Given the description of an element on the screen output the (x, y) to click on. 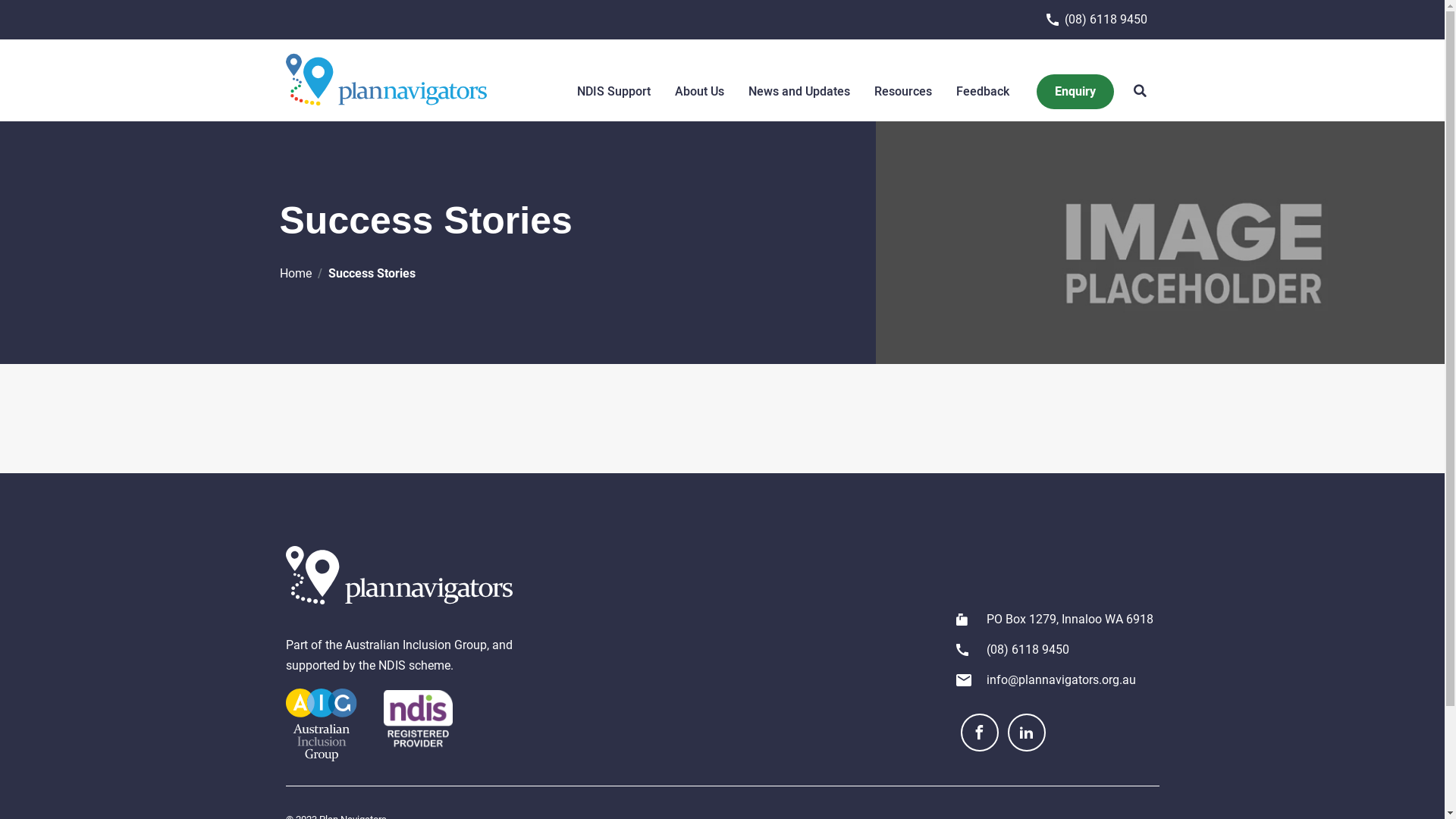
Facebook Element type: text (978, 732)
(08) 6118 9450 Element type: text (1026, 649)
Feedback Element type: text (982, 91)
Home Element type: text (294, 273)
Search Element type: text (1138, 91)
Plan Navigators Element type: hover (398, 575)
info@plannavigators.org.au Element type: text (1060, 680)
LinkedIn Element type: text (1025, 732)
Plan Navigators Element type: hover (385, 79)
About Us Element type: text (699, 91)
News and Updates Element type: text (799, 91)
Resources Element type: text (903, 91)
Enquiry Element type: text (1074, 91)
(08) 6118 9450 Element type: text (1096, 19)
NDIS Support Element type: text (613, 91)
